Given the description of an element on the screen output the (x, y) to click on. 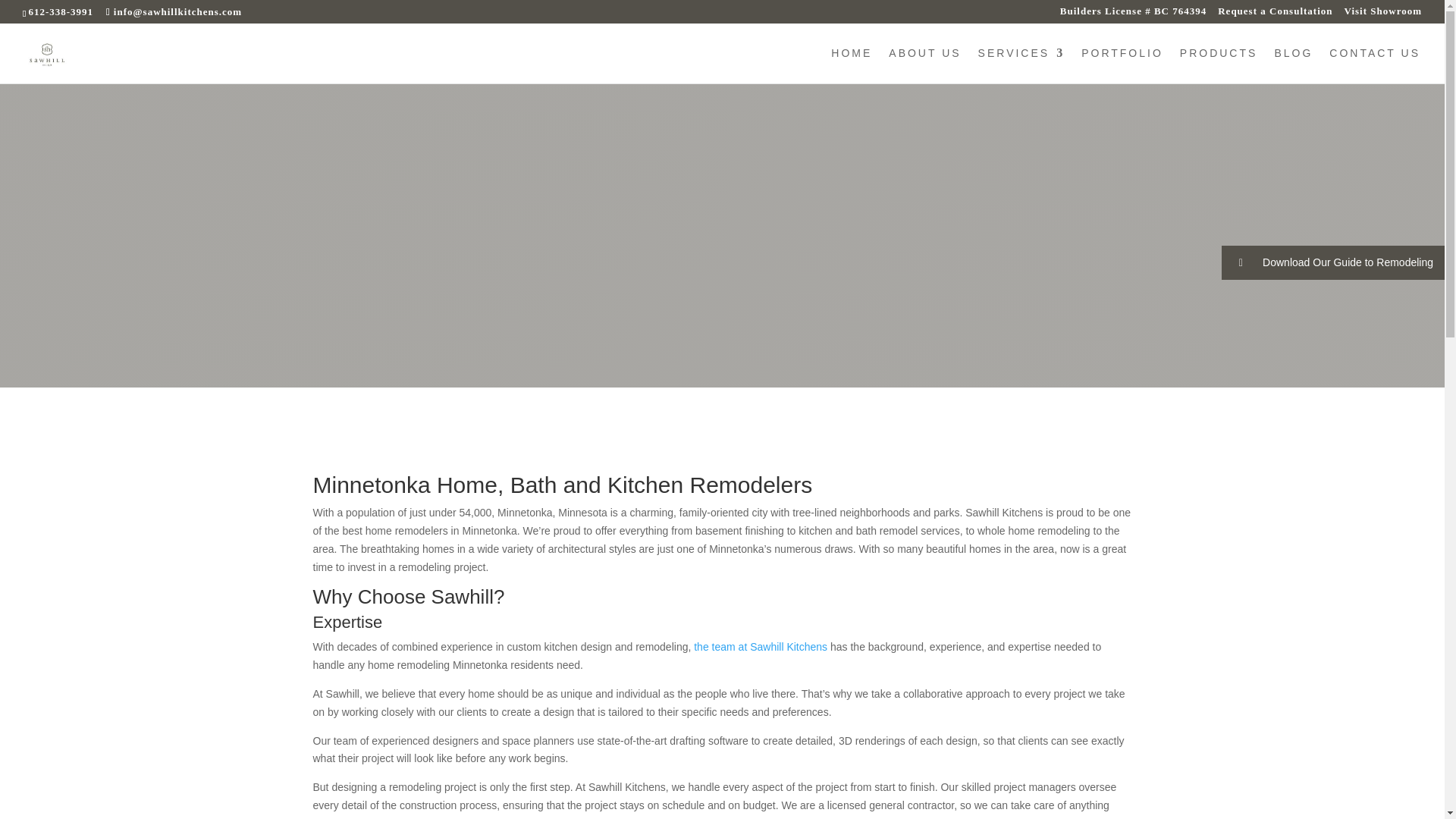
Request a Consultation (1274, 14)
PORTFOLIO (1122, 65)
SERVICES (1021, 65)
BLOG (1293, 65)
CONTACT US (1375, 65)
Visit Showroom (1382, 14)
PRODUCTS (1218, 65)
HOME (851, 65)
ABOUT US (924, 65)
the team at Sawhill Kitchens (758, 646)
